Given the description of an element on the screen output the (x, y) to click on. 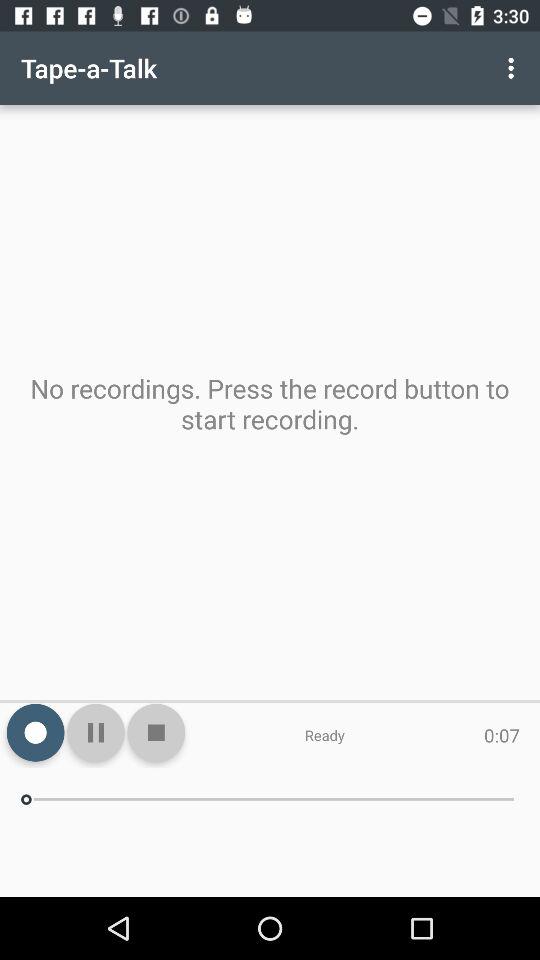
choose the item to the left of ready icon (156, 732)
